Given the description of an element on the screen output the (x, y) to click on. 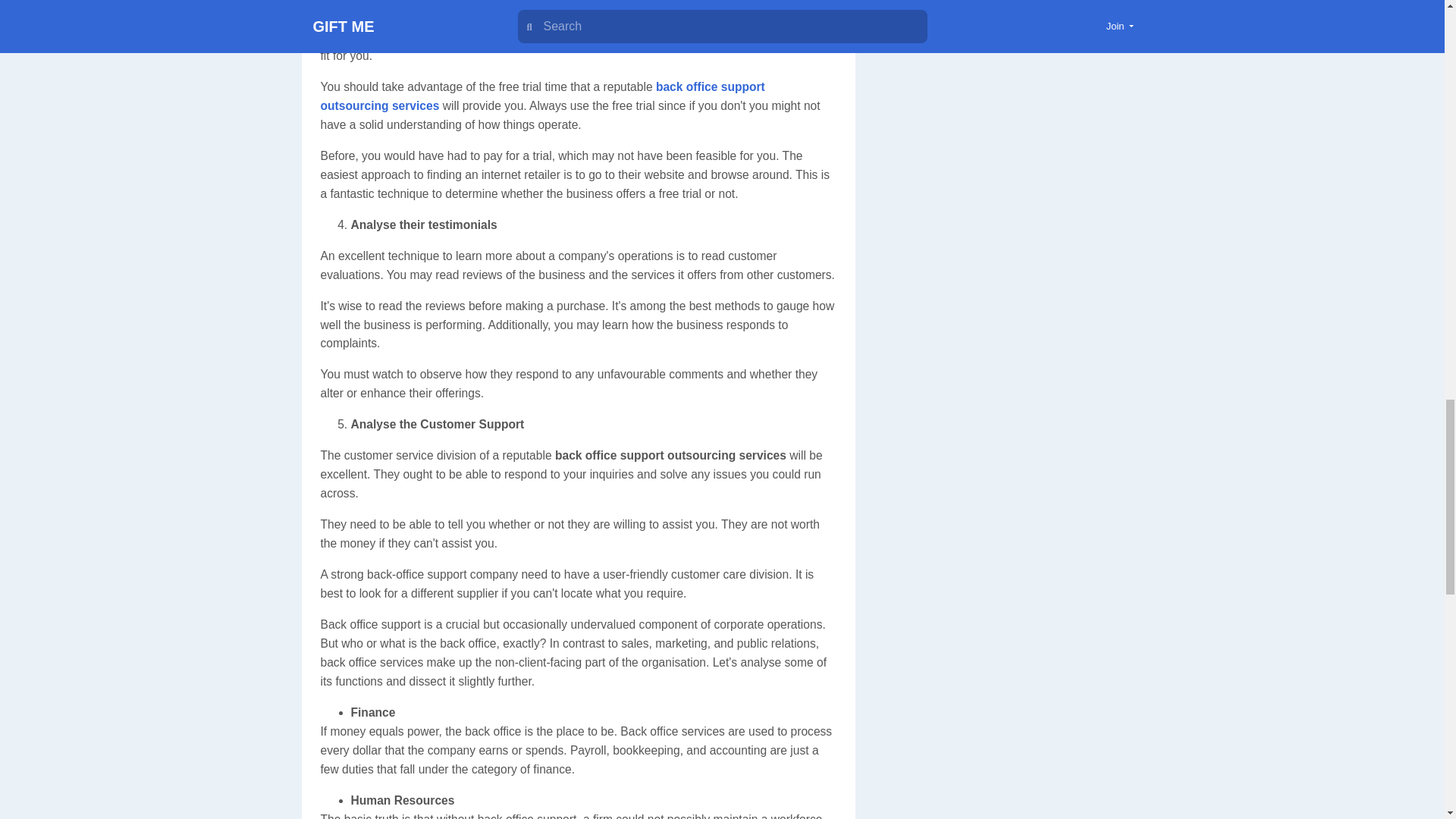
back office support outsourcing services (542, 96)
